Given the description of an element on the screen output the (x, y) to click on. 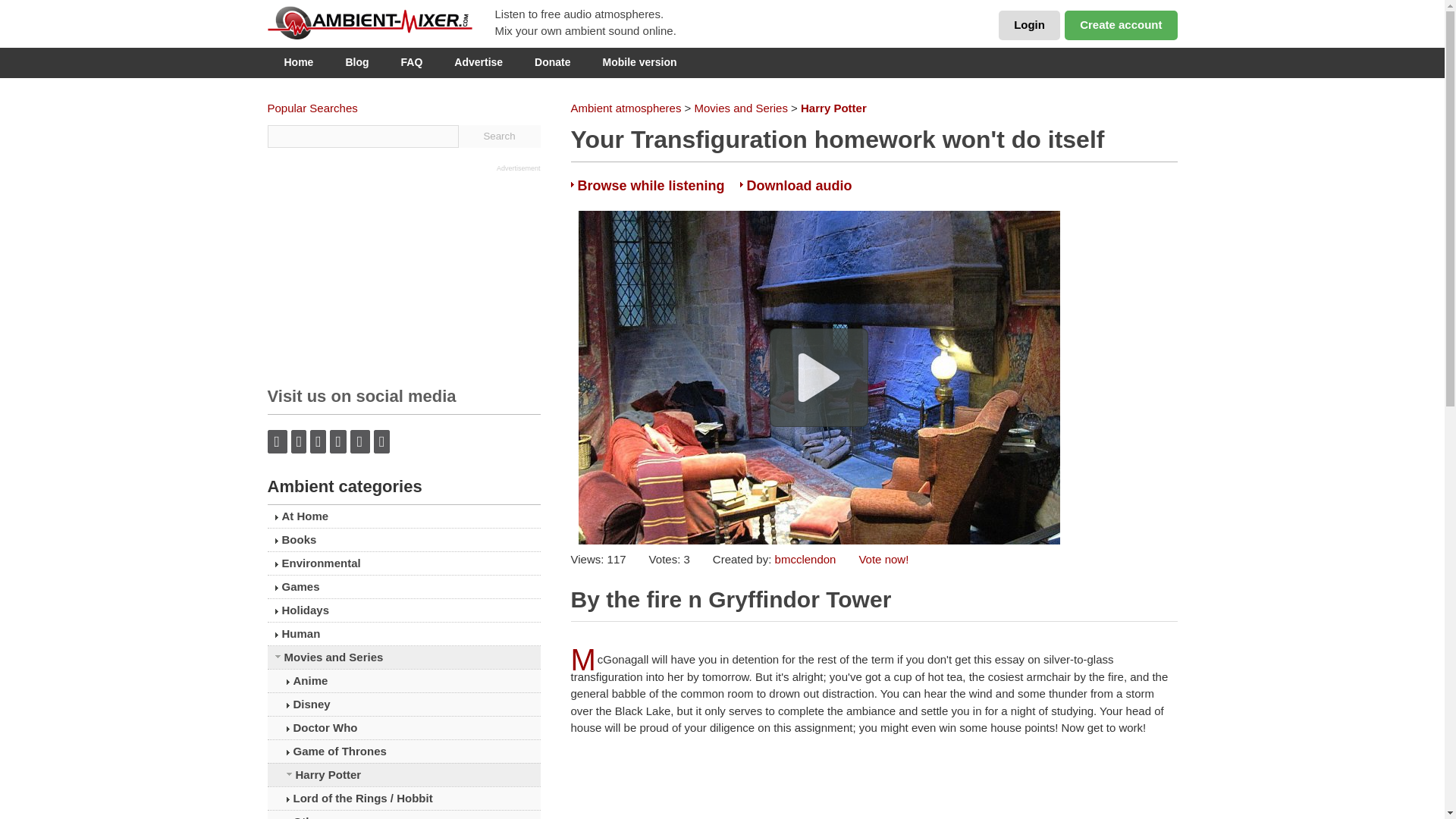
Doctor Who (403, 727)
Search (499, 135)
Listen and create environmental sounds (403, 563)
All kinds of human sounds (403, 633)
Mobile version (640, 62)
Ambient noise inspired by Disney (403, 703)
Harry Potter and Hogwarts sounds (403, 774)
Popular Searches (311, 107)
Home (298, 62)
Game of Thrones themed sounds (403, 751)
Holidays (403, 609)
Environmental (403, 563)
All kinds of atmospheres related to the holiday seasons (403, 609)
At Home (403, 516)
3rd party ad content (380, 268)
